Given the description of an element on the screen output the (x, y) to click on. 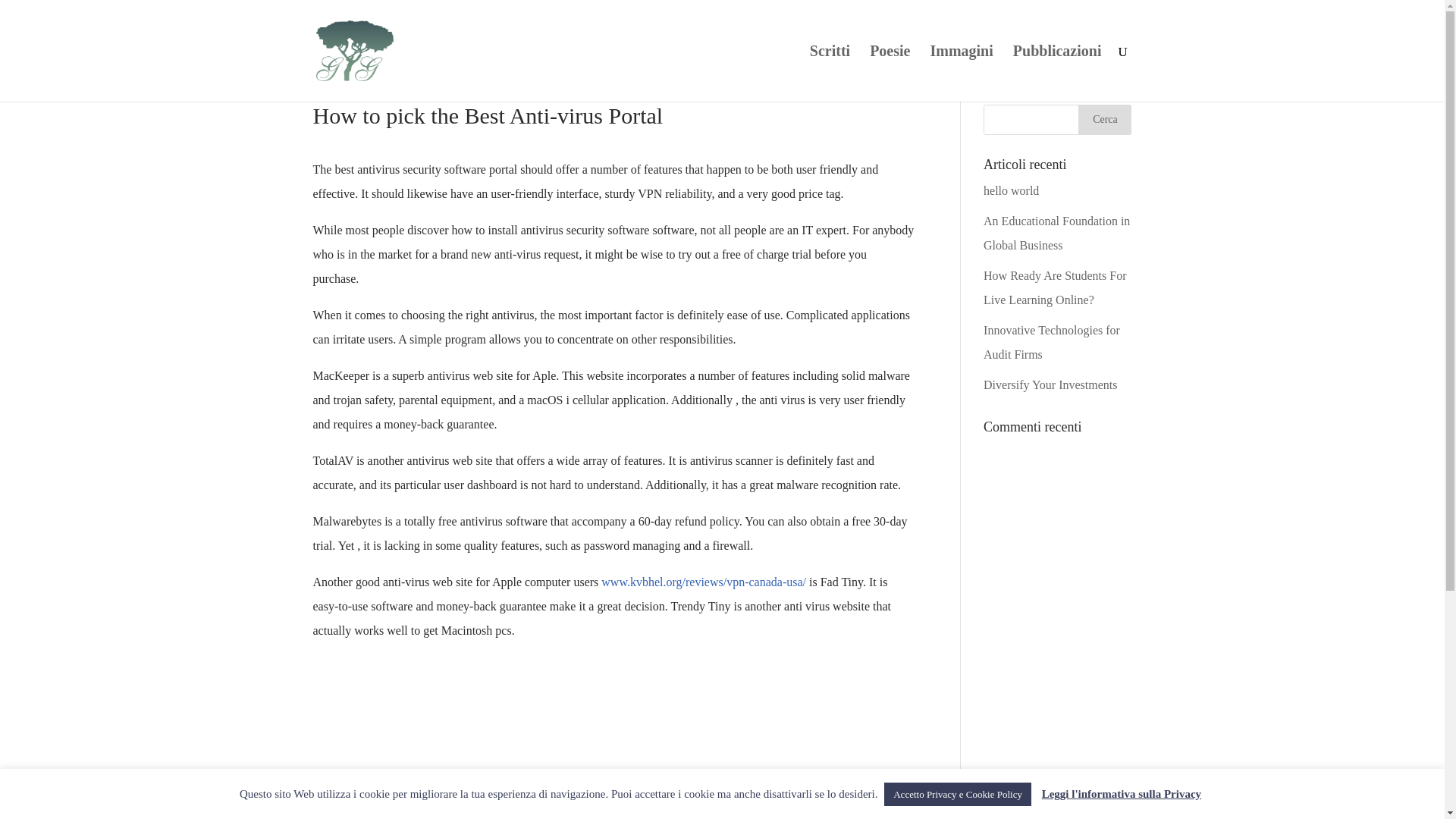
Diversify Your Investments (1050, 384)
Pubblicazioni (1057, 73)
Cerca (1104, 119)
How Ready Are Students For Live Learning Online? (1054, 287)
Innovative Technologies for Audit Firms (1051, 342)
An Educational Foundation in Global Business (1056, 232)
Immagini (961, 73)
Cerca (1104, 119)
hello world (1011, 190)
